Given the description of an element on the screen output the (x, y) to click on. 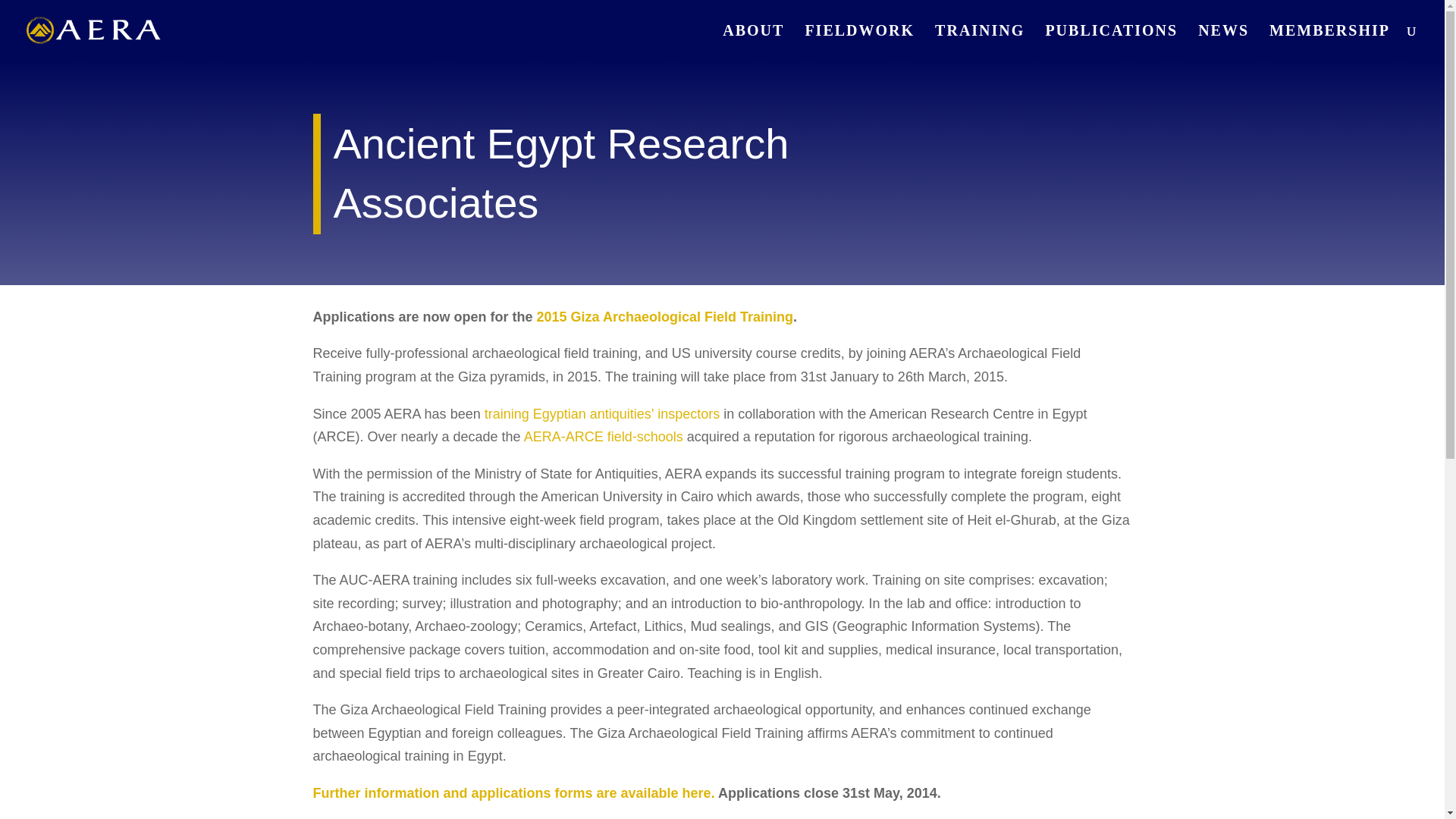
TRAINING (979, 42)
ABOUT (753, 42)
NEWS (1223, 42)
AERA-ARCE field-schools (603, 436)
PUBLICATIONS (1111, 42)
2015 Giza Archaeological Field Training (665, 316)
FIELDWORK (859, 42)
MEMBERSHIP (1329, 42)
